Given the description of an element on the screen output the (x, y) to click on. 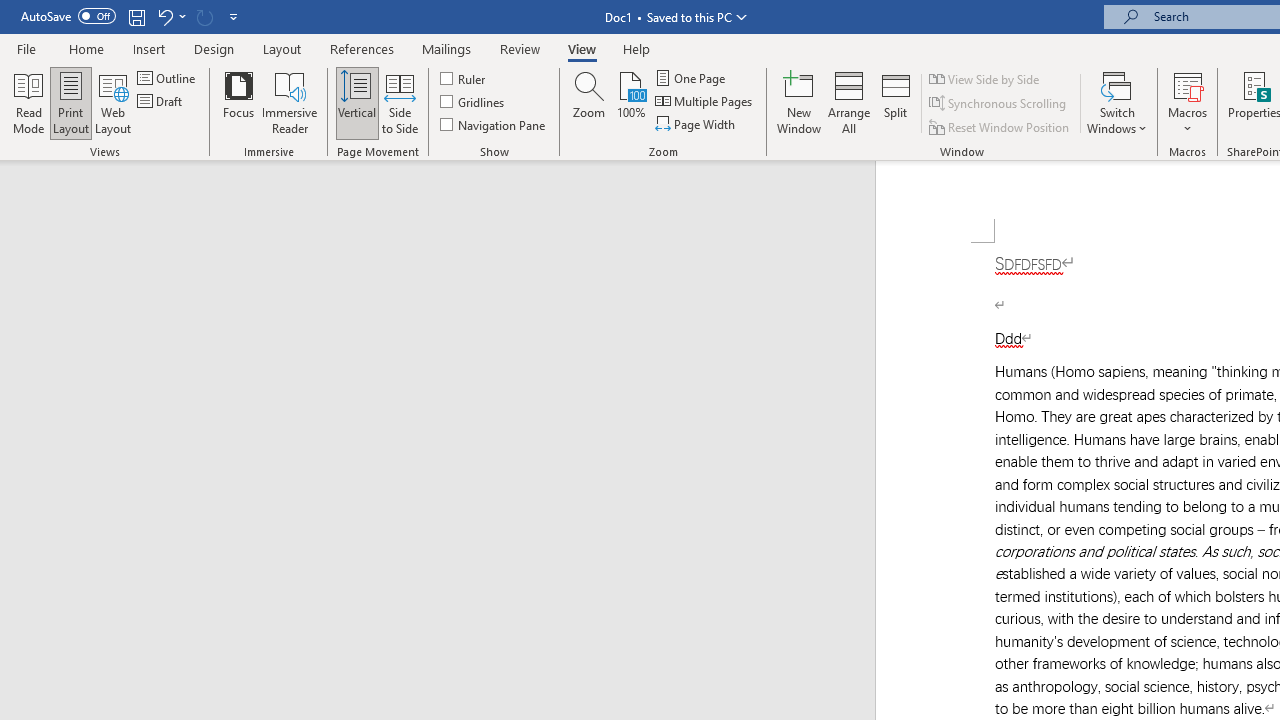
Focus (238, 102)
New Window (799, 102)
View Side by Side (985, 78)
Page Width (696, 124)
Navigation Pane (493, 124)
Macros (1187, 102)
Ruler (463, 78)
Switch Windows (1117, 102)
Split (895, 102)
Draft (161, 101)
